Given the description of an element on the screen output the (x, y) to click on. 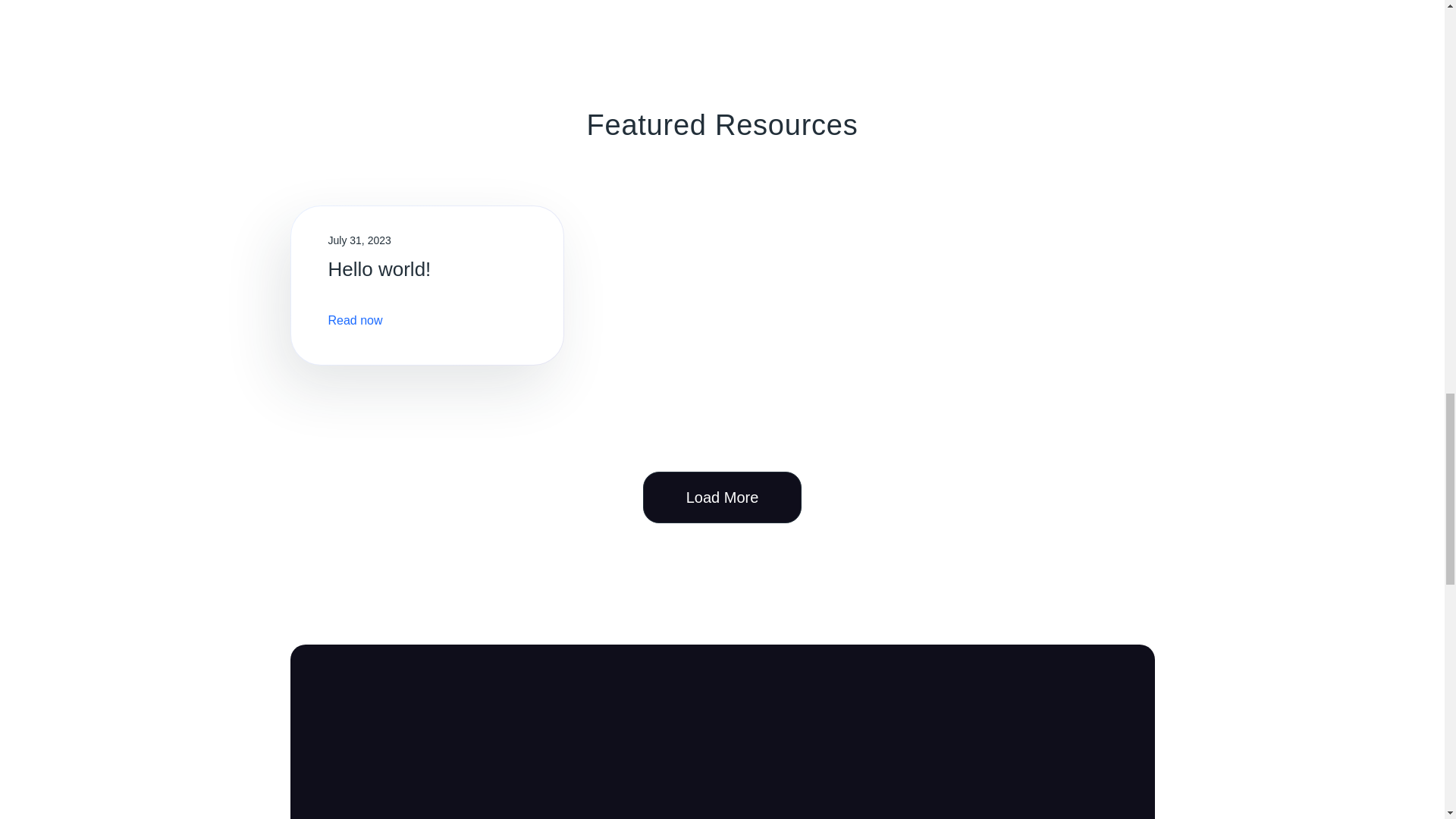
Load More (722, 497)
Hello world! (378, 268)
Read now (354, 320)
